Given the description of an element on the screen output the (x, y) to click on. 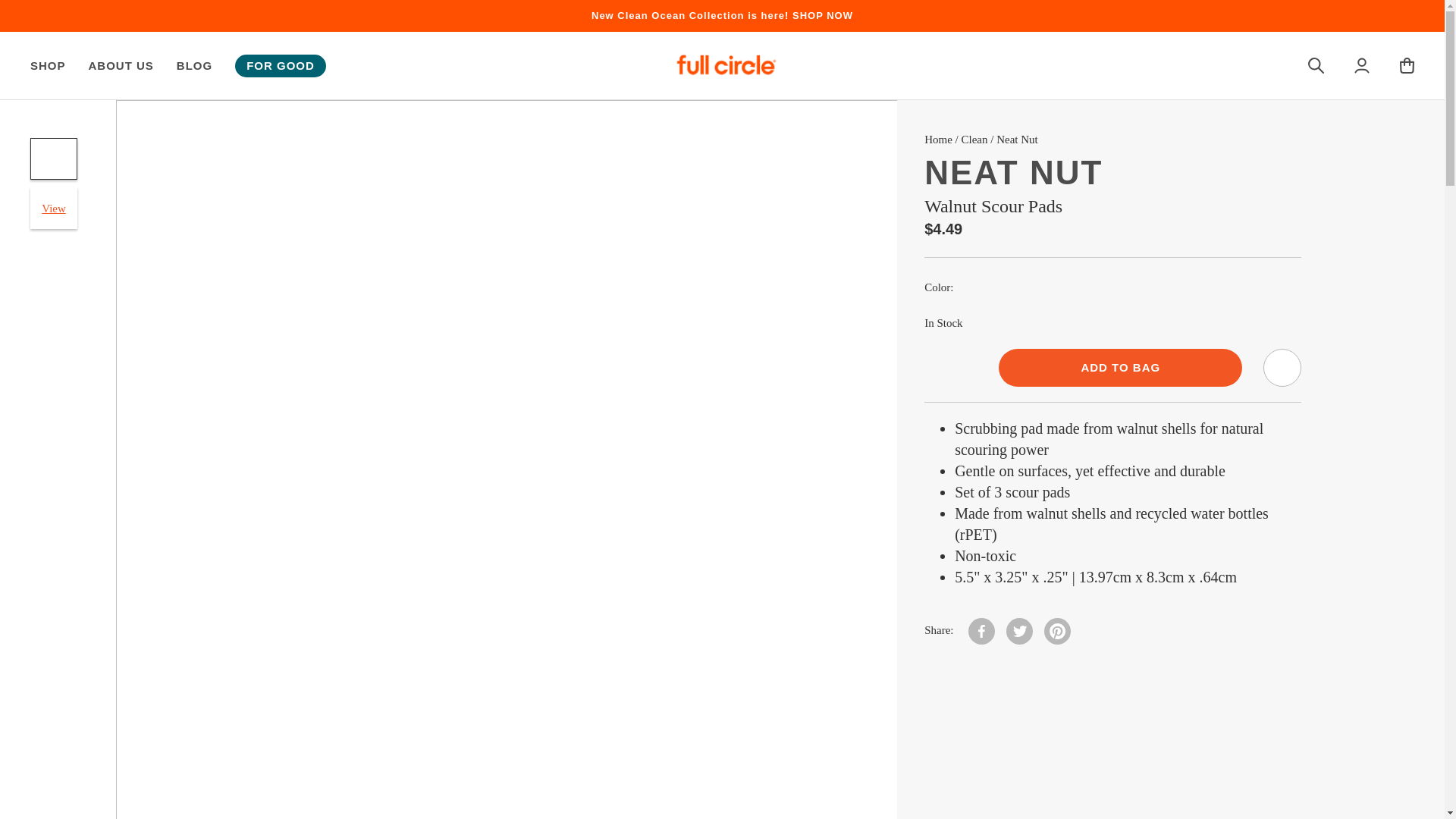
close (1429, 17)
Clean Ocean (722, 15)
FOR GOOD (280, 65)
New Clean Ocean Collection is here! SHOP NOW (722, 15)
ABOUT US (121, 65)
Home (938, 139)
